Given the description of an element on the screen output the (x, y) to click on. 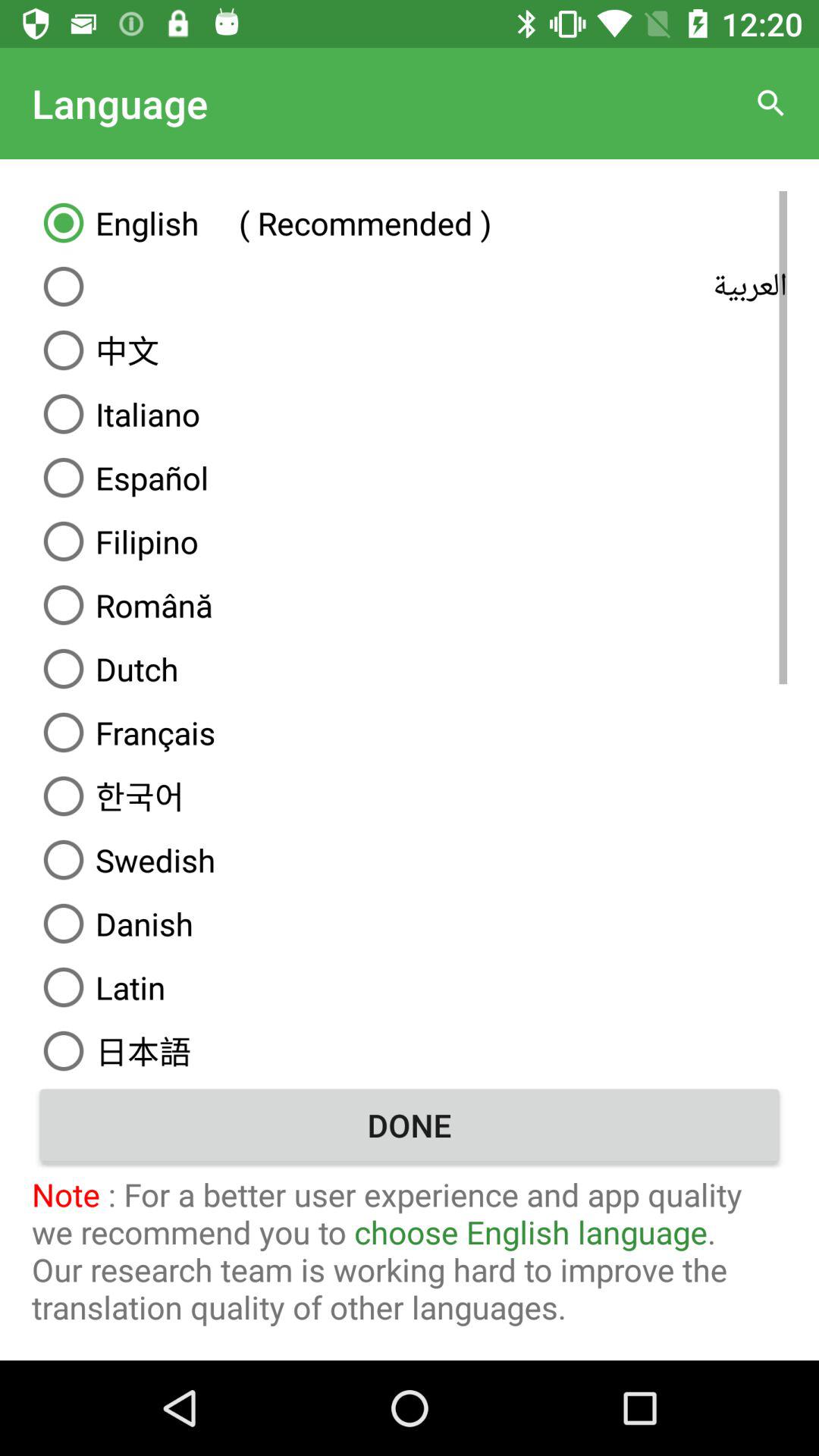
scroll until italiano item (409, 413)
